Given the description of an element on the screen output the (x, y) to click on. 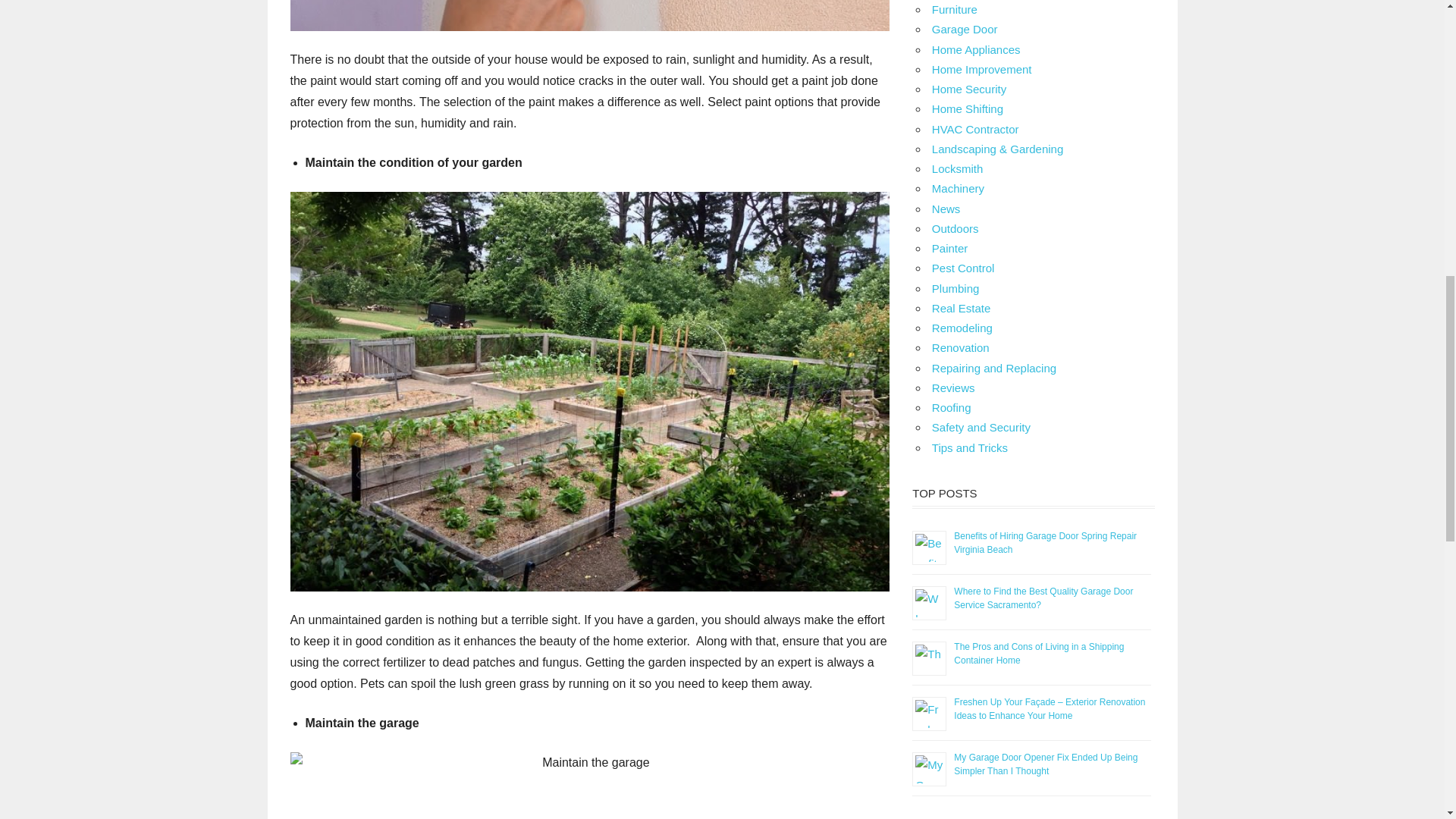
Maintain the garage (589, 785)
Regular Paint Job to prevent cracks (589, 15)
